Given the description of an element on the screen output the (x, y) to click on. 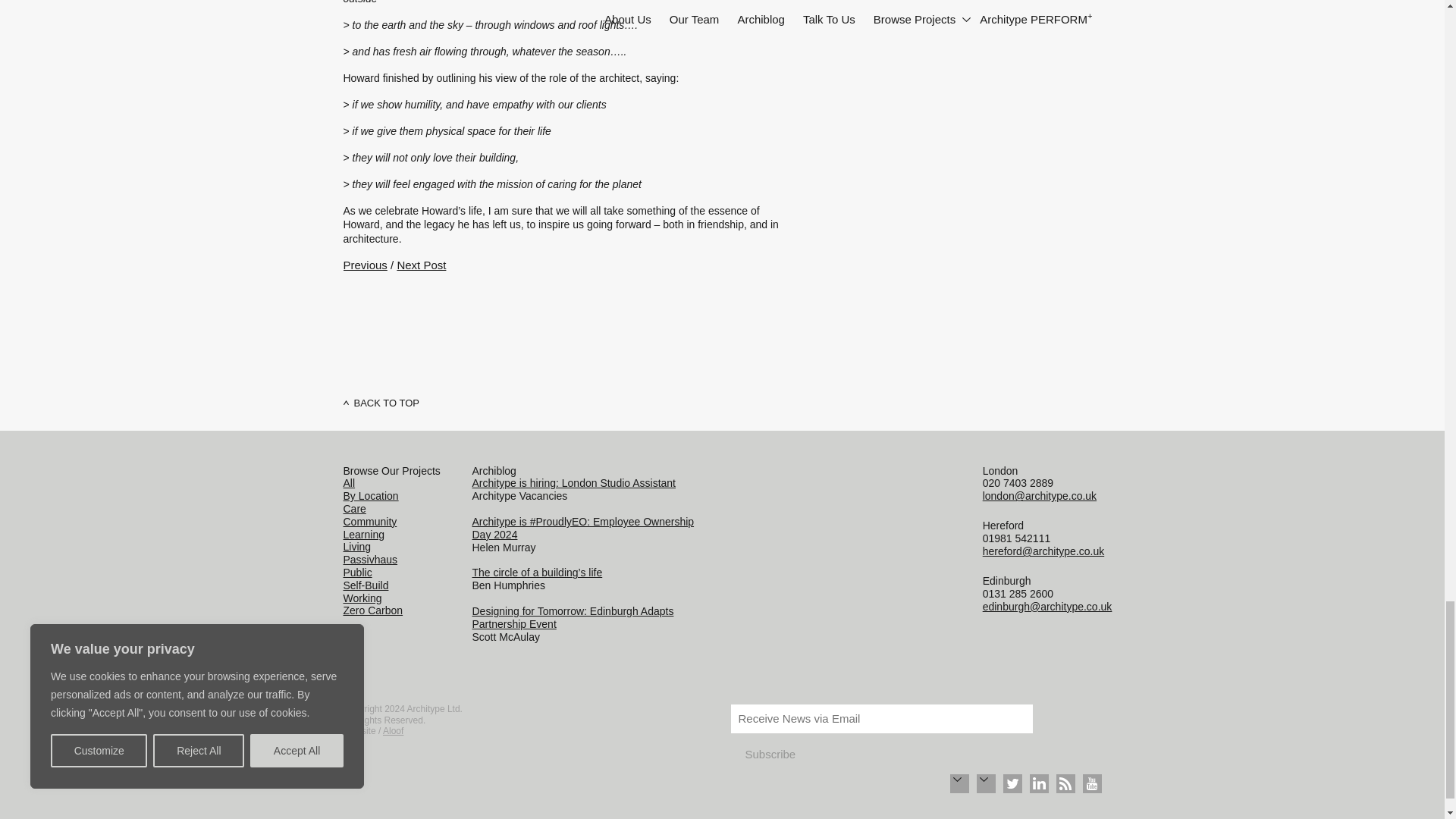
Browse Buildings for Public (356, 572)
Browse Buildings for Care (353, 508)
Subscribe (769, 754)
Browse Buildings for Living (356, 546)
Browse Buildings for Learning (363, 534)
Browse Buildings for Community (369, 521)
Browse Buildings for Passivhaus (369, 559)
